Given the description of an element on the screen output the (x, y) to click on. 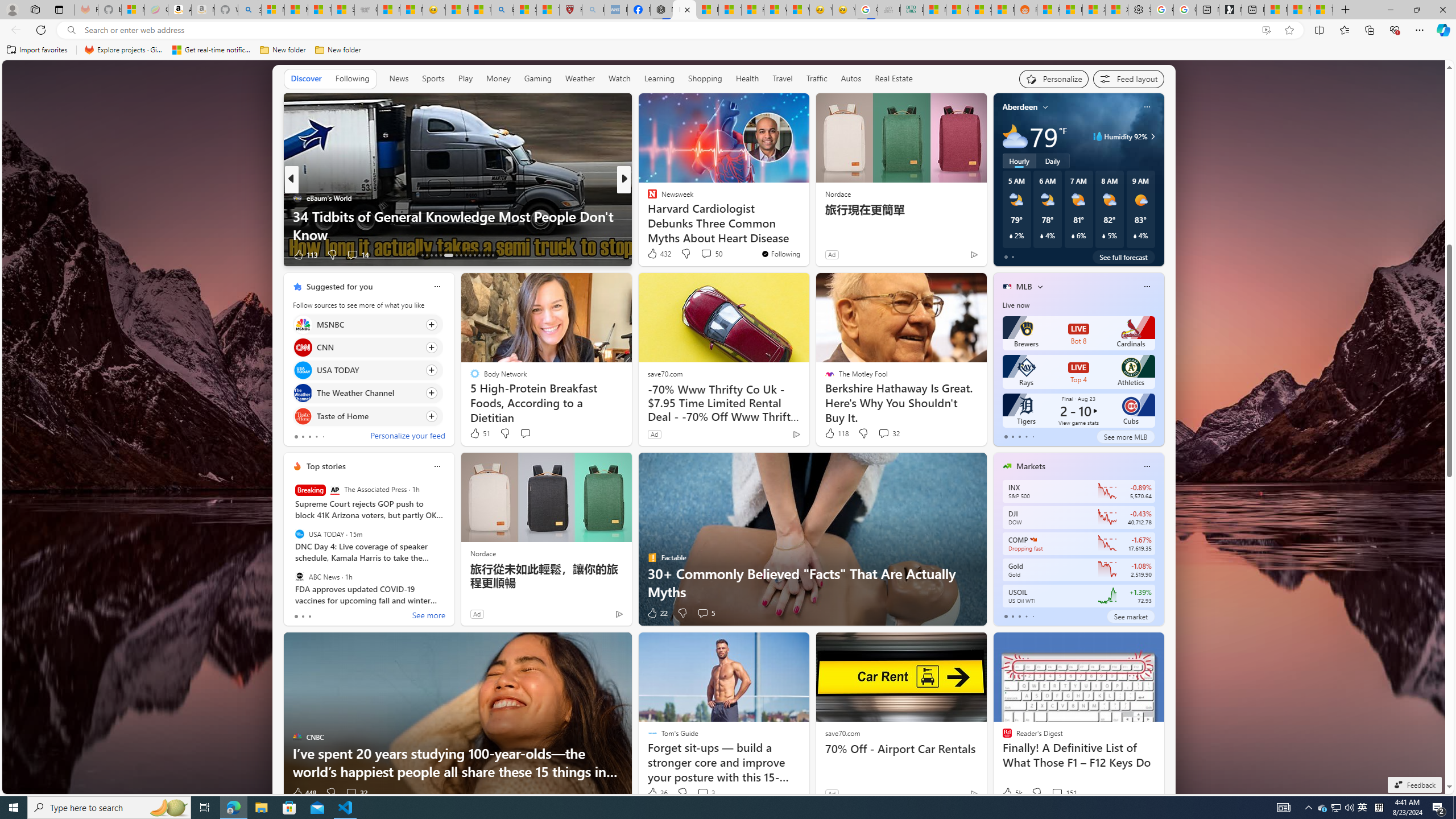
tab-4 (1032, 616)
AutomationID: backgroundImagePicture (723, 426)
AutomationID: tab-72 (456, 255)
View comments 29 Comment (703, 254)
R******* | Trusted Community Engagement and Contributions (1048, 9)
MSNBC - MSN (934, 9)
68 Like (652, 254)
Real Estate (893, 79)
View comments 5 Comment (703, 613)
Click to follow source MSNBC (367, 324)
22 Like (657, 612)
